Given the description of an element on the screen output the (x, y) to click on. 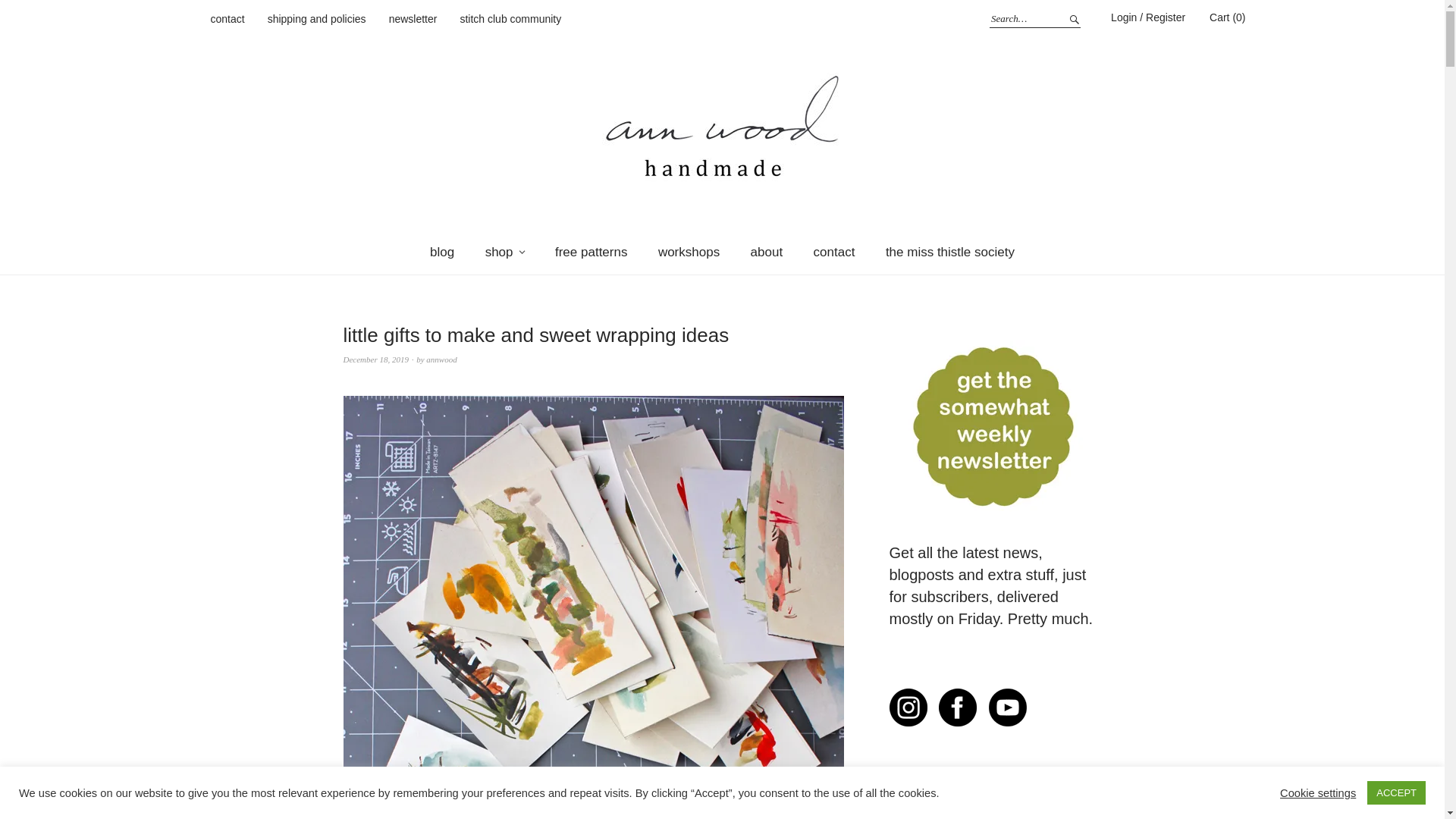
stitch club community (510, 19)
December 18, 2019 (374, 358)
shipping and policies (316, 19)
workshops (689, 252)
Search (1072, 18)
Search (1072, 18)
newsletter (413, 19)
the miss thistle society (949, 252)
annwood (441, 358)
free patterns (590, 252)
All posts by annwood (441, 358)
contact (834, 252)
shop (504, 252)
View cart (1226, 17)
blog (441, 252)
